Given the description of an element on the screen output the (x, y) to click on. 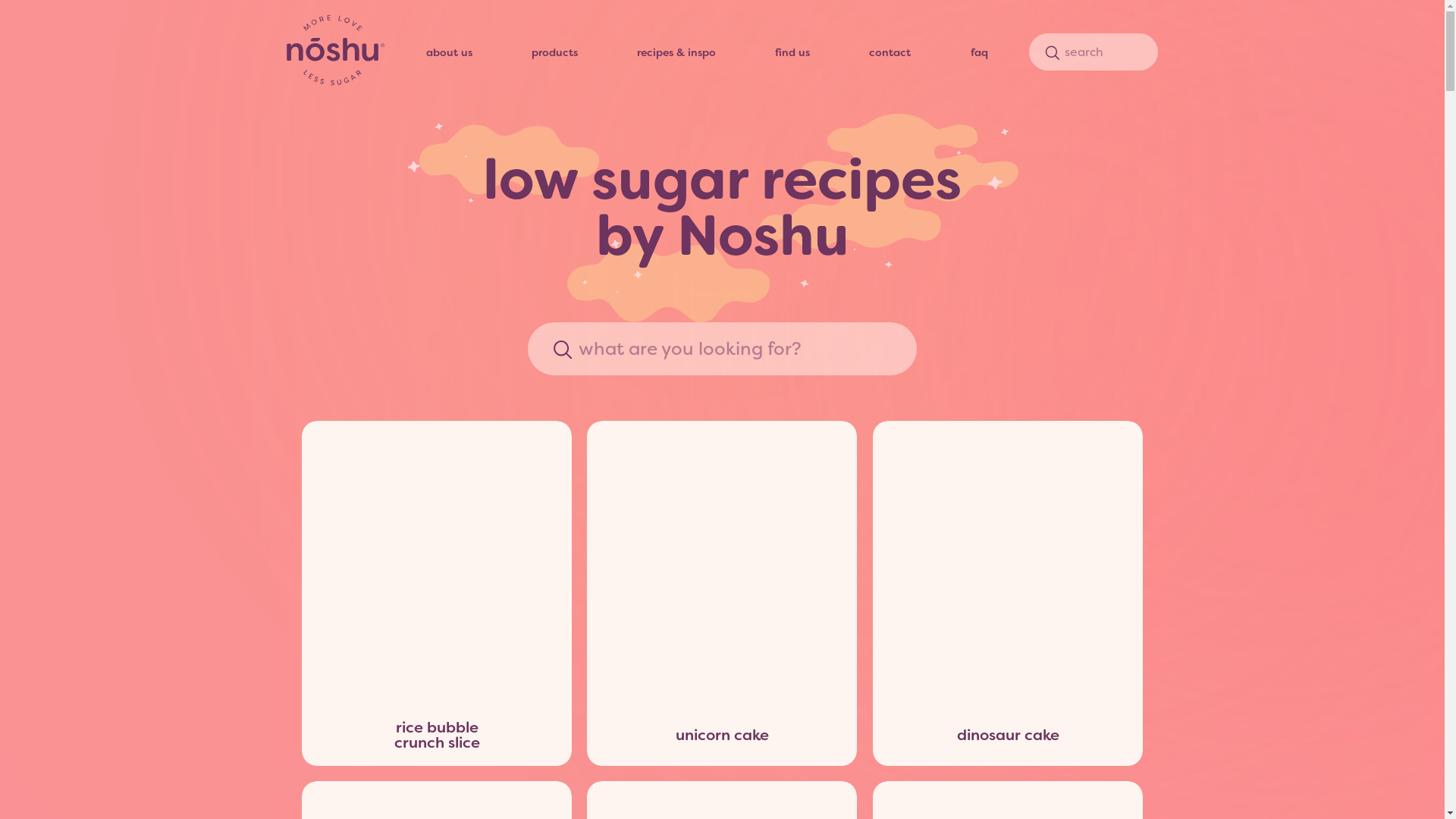
unicorn cake Element type: text (721, 592)
find us Element type: text (792, 52)
about us Element type: text (449, 52)
Unicorn cake Element type: hover (721, 561)
Dinosaur cake Element type: hover (1007, 561)
contact Element type: text (889, 52)
dinosaur cake Element type: text (1007, 592)
recipes & inspo Element type: text (676, 52)
products Element type: text (554, 52)
Rice bubble crunch slice Element type: hover (436, 561)
faq Element type: text (979, 52)
rice bubble
crunch slice Element type: text (436, 592)
